Given the description of an element on the screen output the (x, y) to click on. 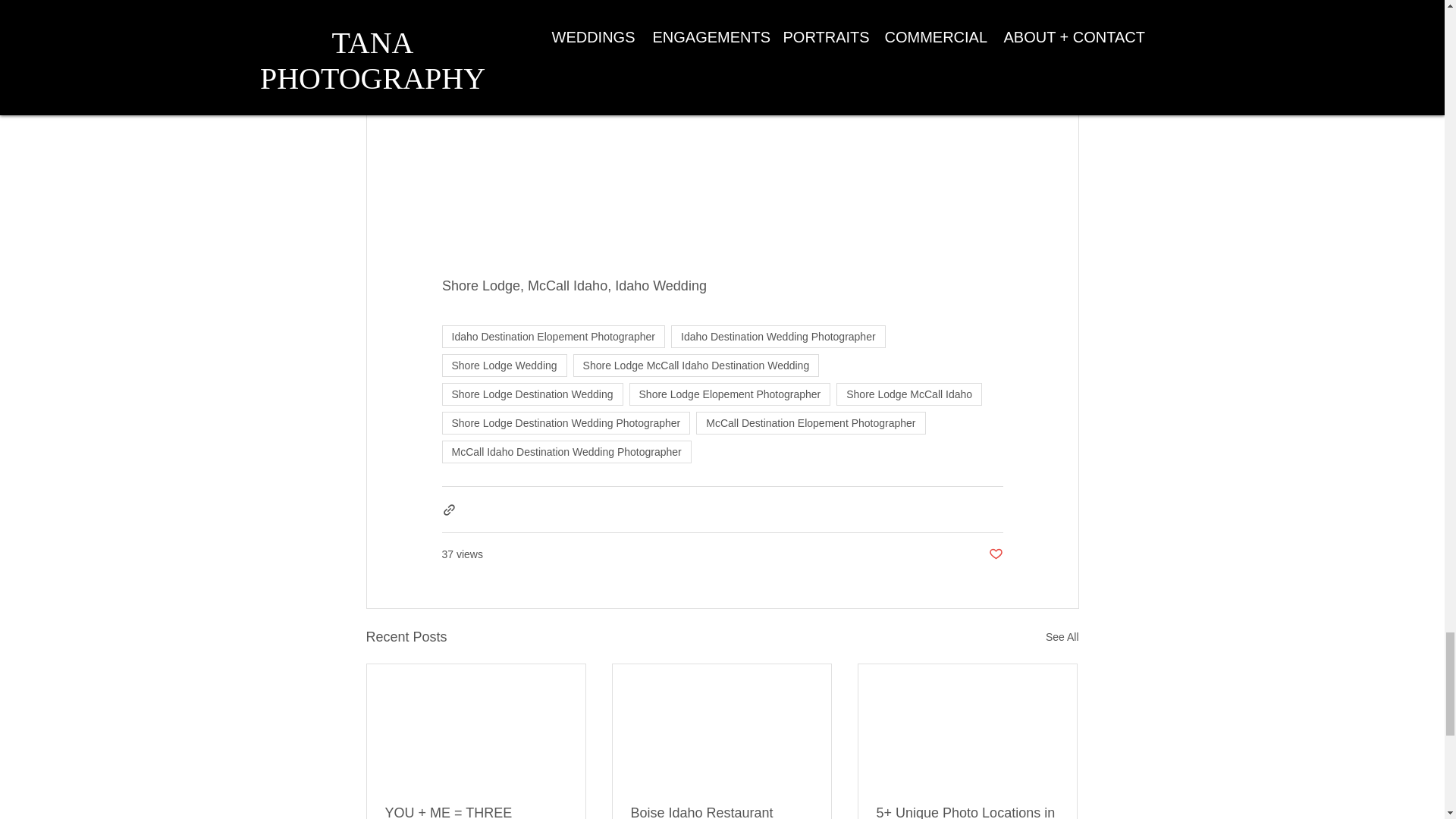
Shore Lodge Destination Wedding Photographer (565, 422)
Shore Lodge McCall Idaho Destination Wedding (696, 364)
Shore Lodge Wedding (503, 364)
Idaho Destination Elopement Photographer (553, 336)
Idaho Destination Wedding Photographer (778, 336)
Shore Lodge Elopement Photographer (729, 394)
Shore Lodge McCall Idaho (908, 394)
McCall Destination Elopement Photographer (809, 422)
McCall Idaho Destination Wedding Photographer (565, 451)
Shore Lodge Destination Wedding (532, 394)
